Given the description of an element on the screen output the (x, y) to click on. 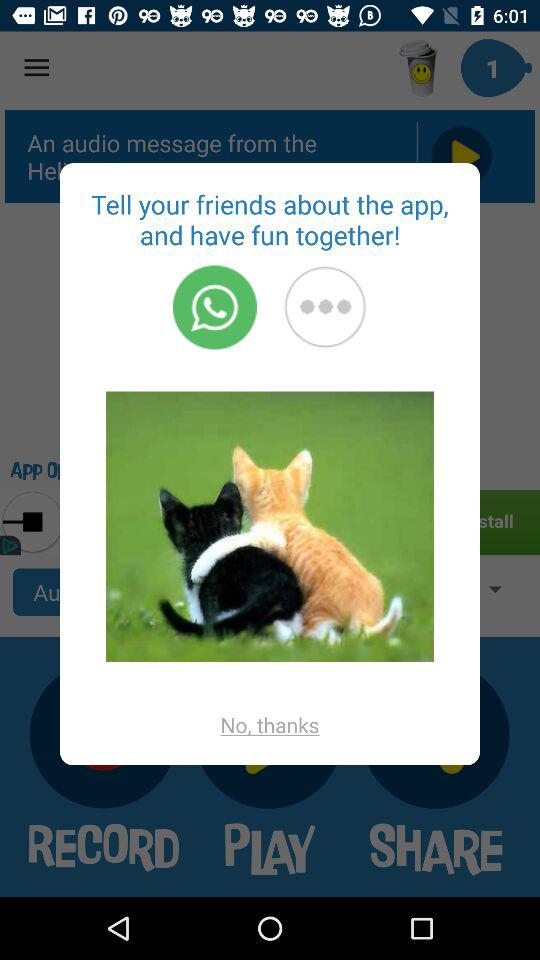
swipe until no, thanks app (269, 724)
